Given the description of an element on the screen output the (x, y) to click on. 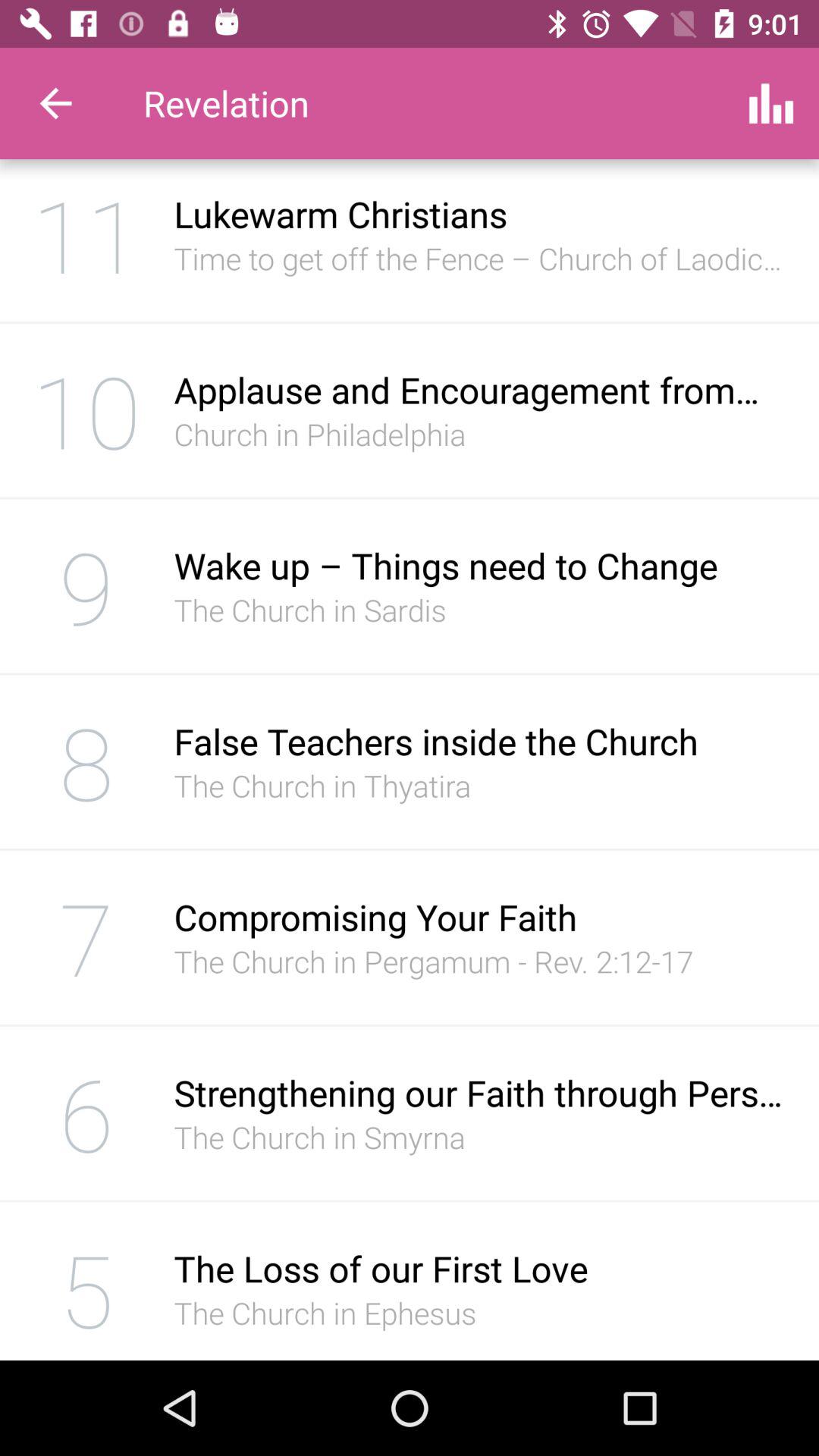
launch icon above the the church in icon (480, 916)
